Given the description of an element on the screen output the (x, y) to click on. 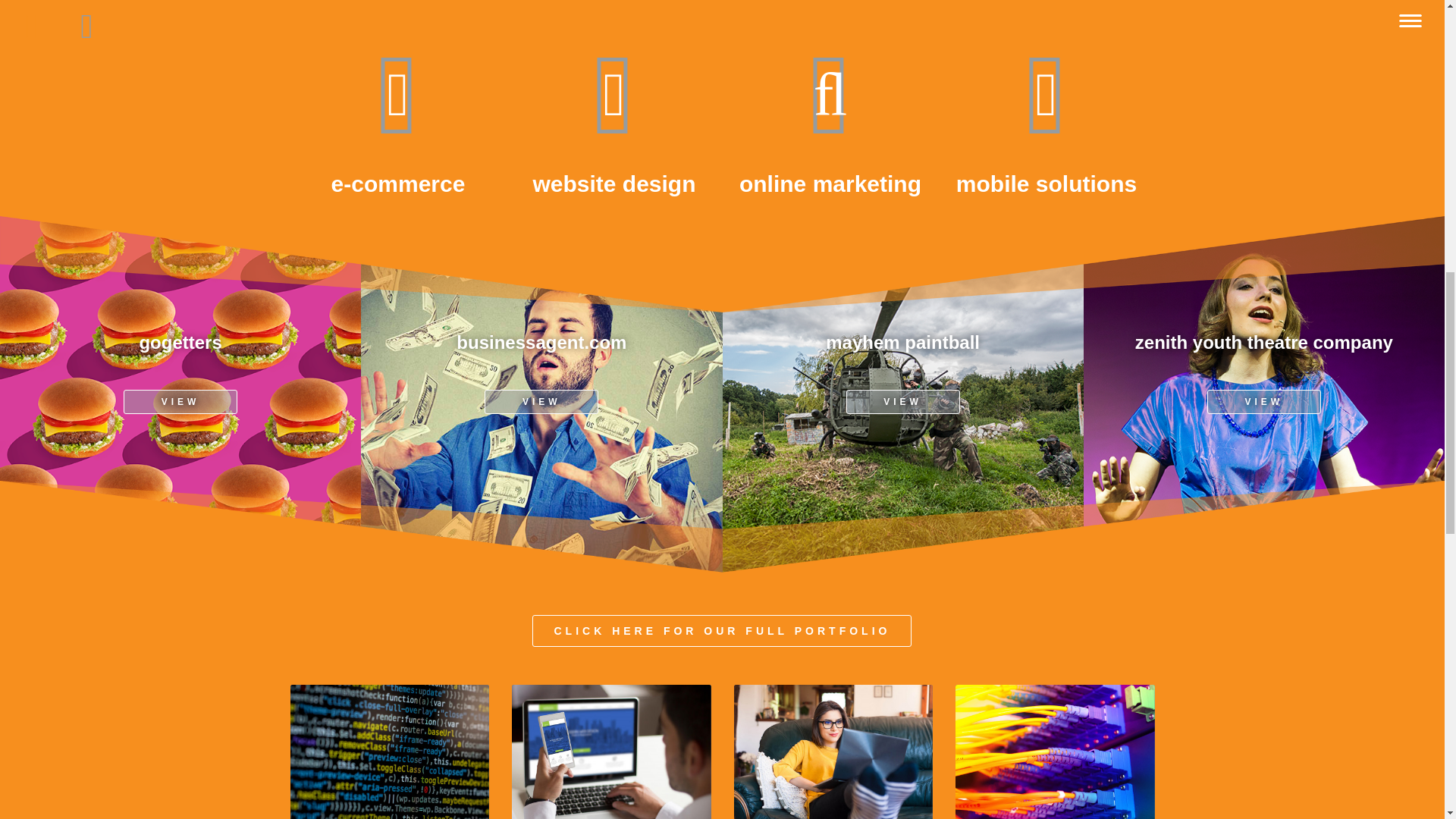
online marketing (829, 117)
VIEW (541, 401)
CLICK HERE FOR OUR FULL PORTFOLIO (721, 631)
VIEW (1263, 401)
businessagent.com website designed by EQ Creative (541, 396)
Web chat service (833, 751)
Mayhem Paintball website designed by EQ Creative (902, 396)
e-commerce (397, 117)
VIEW (180, 401)
website design (614, 117)
GoGetters website designed by EQ Creative (180, 396)
VIEW (902, 401)
Monthly hosting, marketing and maintenance packages (1054, 751)
Our new template service (611, 751)
EQ Digital Hub (389, 751)
